Given the description of an element on the screen output the (x, y) to click on. 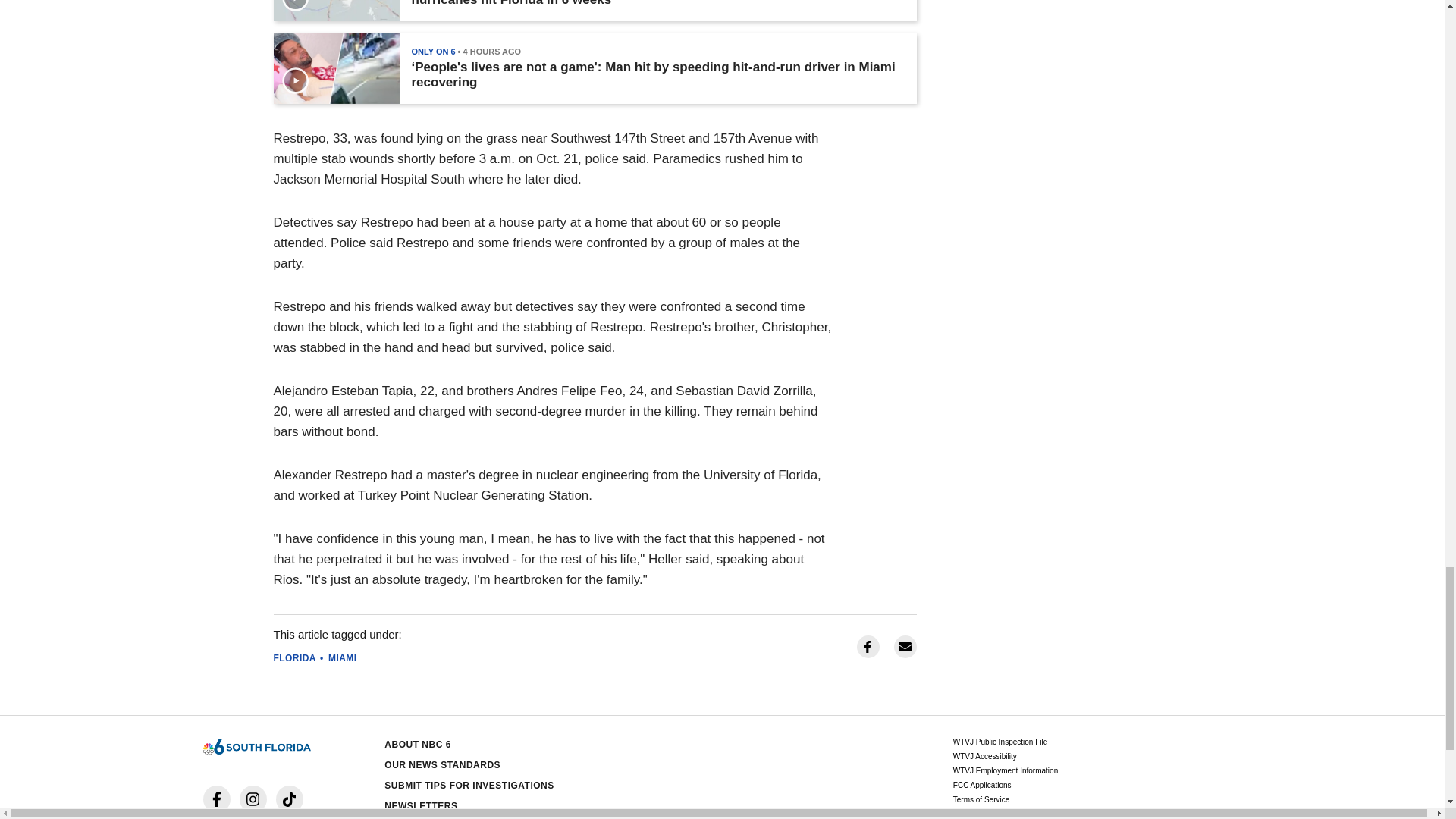
MIAMI (342, 657)
ONLY ON 6 (432, 51)
FLORIDA (294, 657)
